Given the description of an element on the screen output the (x, y) to click on. 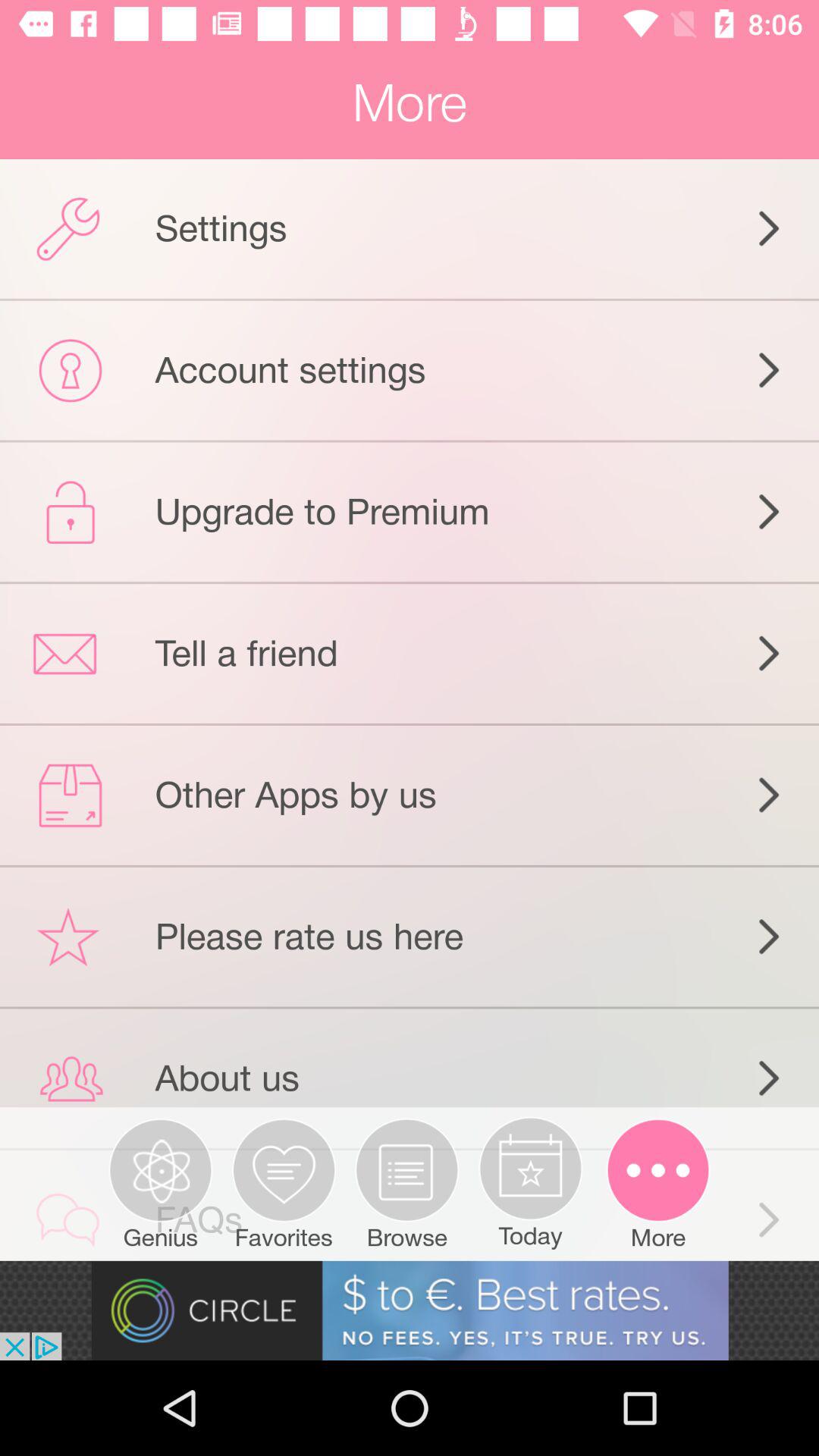
advertisement (409, 1310)
